Given the description of an element on the screen output the (x, y) to click on. 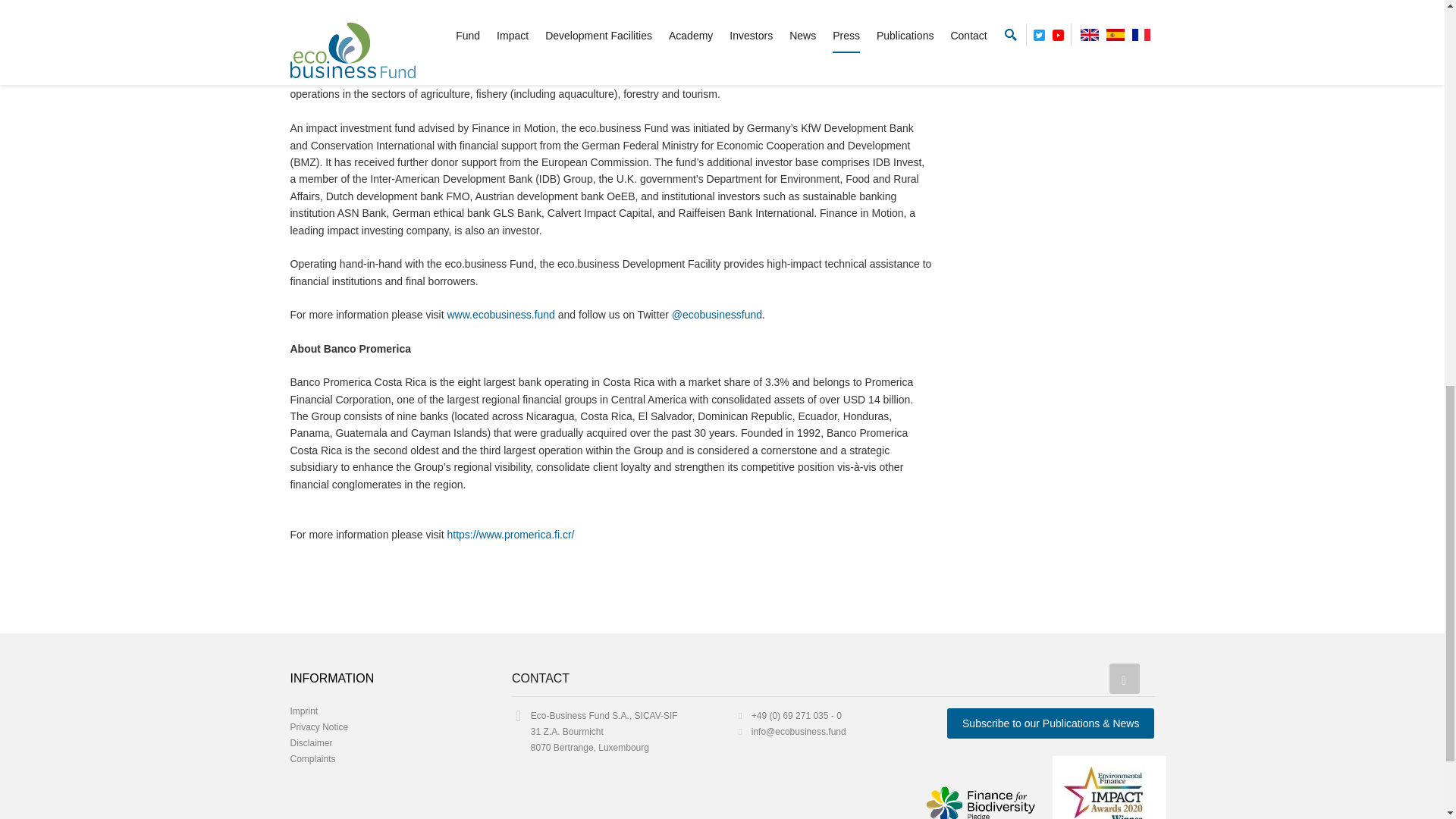
www.ecobusiness.fund (500, 314)
Complaints (311, 758)
Imprint (303, 710)
Privacy Notice (318, 726)
Disclaimer (310, 742)
